Given the description of an element on the screen output the (x, y) to click on. 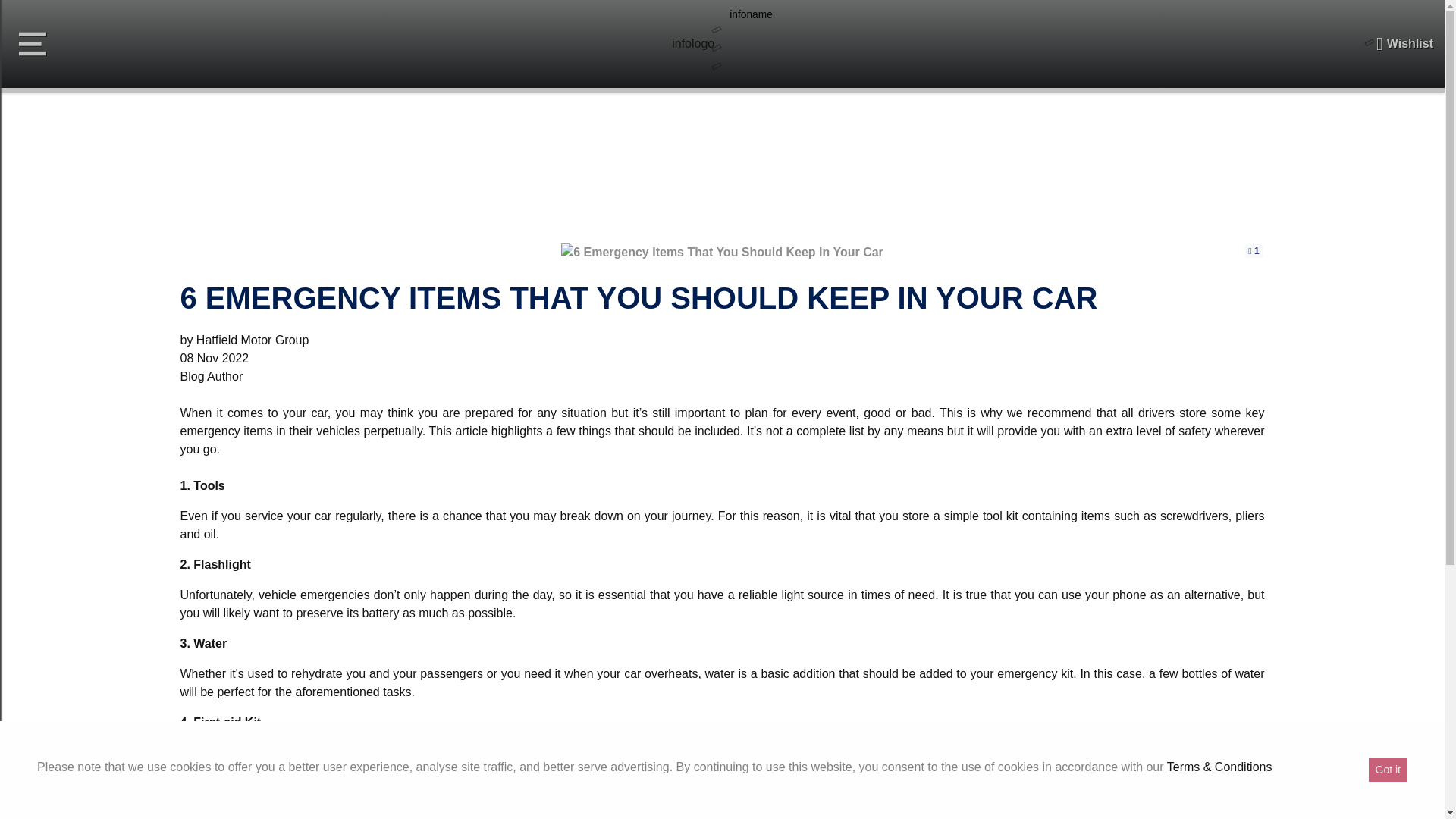
Got it (1387, 770)
infoname (751, 14)
Wishlist (1403, 44)
6 Emergency Items That You Should Keep In Your Car (721, 250)
